Given the description of an element on the screen output the (x, y) to click on. 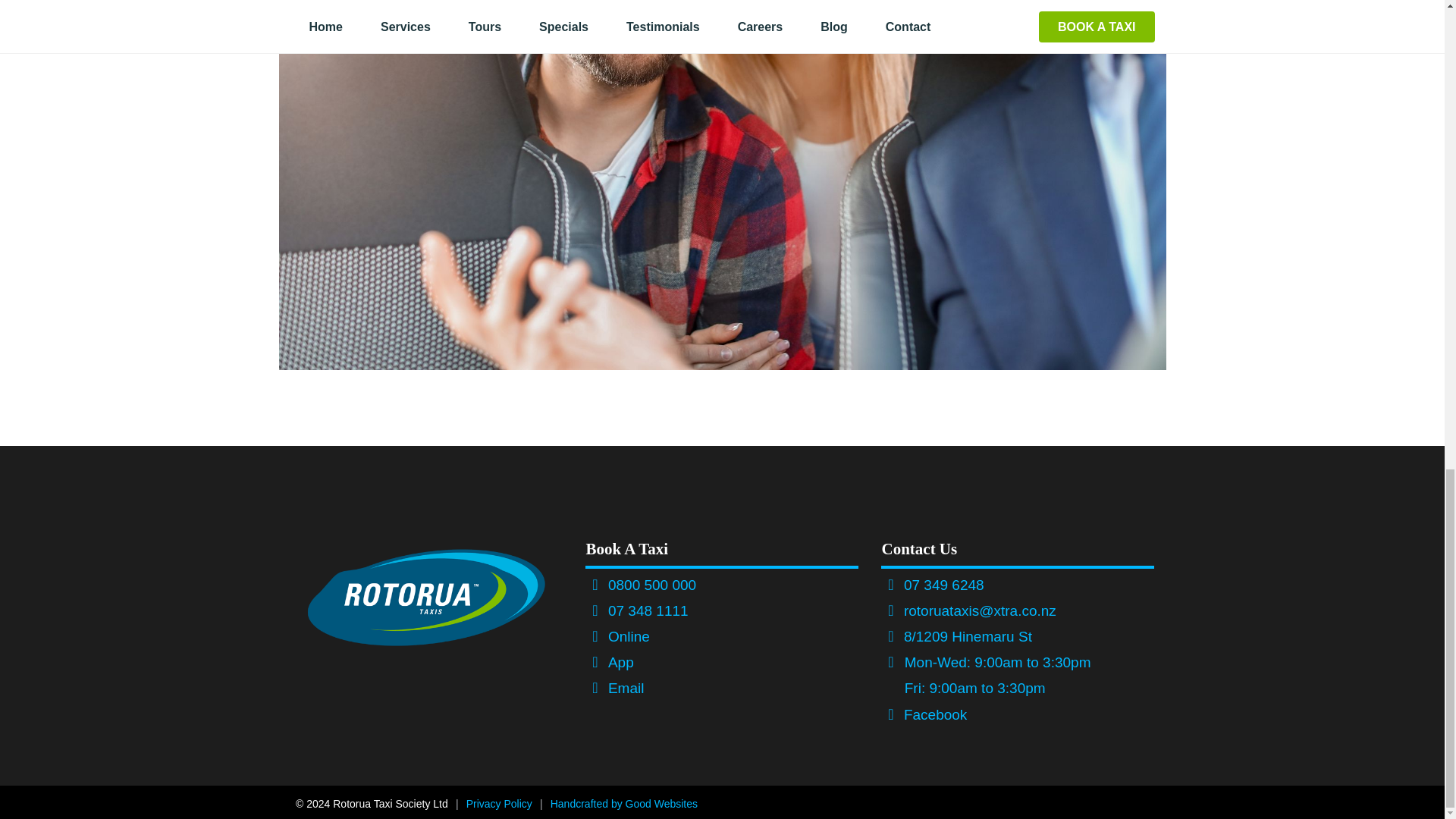
0800 500 000 (651, 584)
Email (626, 688)
Facebook (935, 714)
07 348 1111 (648, 610)
Mon-Wed: 9:00am to 3:30pm (994, 662)
07 349 6248 (944, 584)
Fri: 9:00am to 3:30pm (972, 688)
Privacy Policy (498, 803)
Handcrafted by Good Websites (623, 803)
Online (628, 636)
App (620, 662)
